Given the description of an element on the screen output the (x, y) to click on. 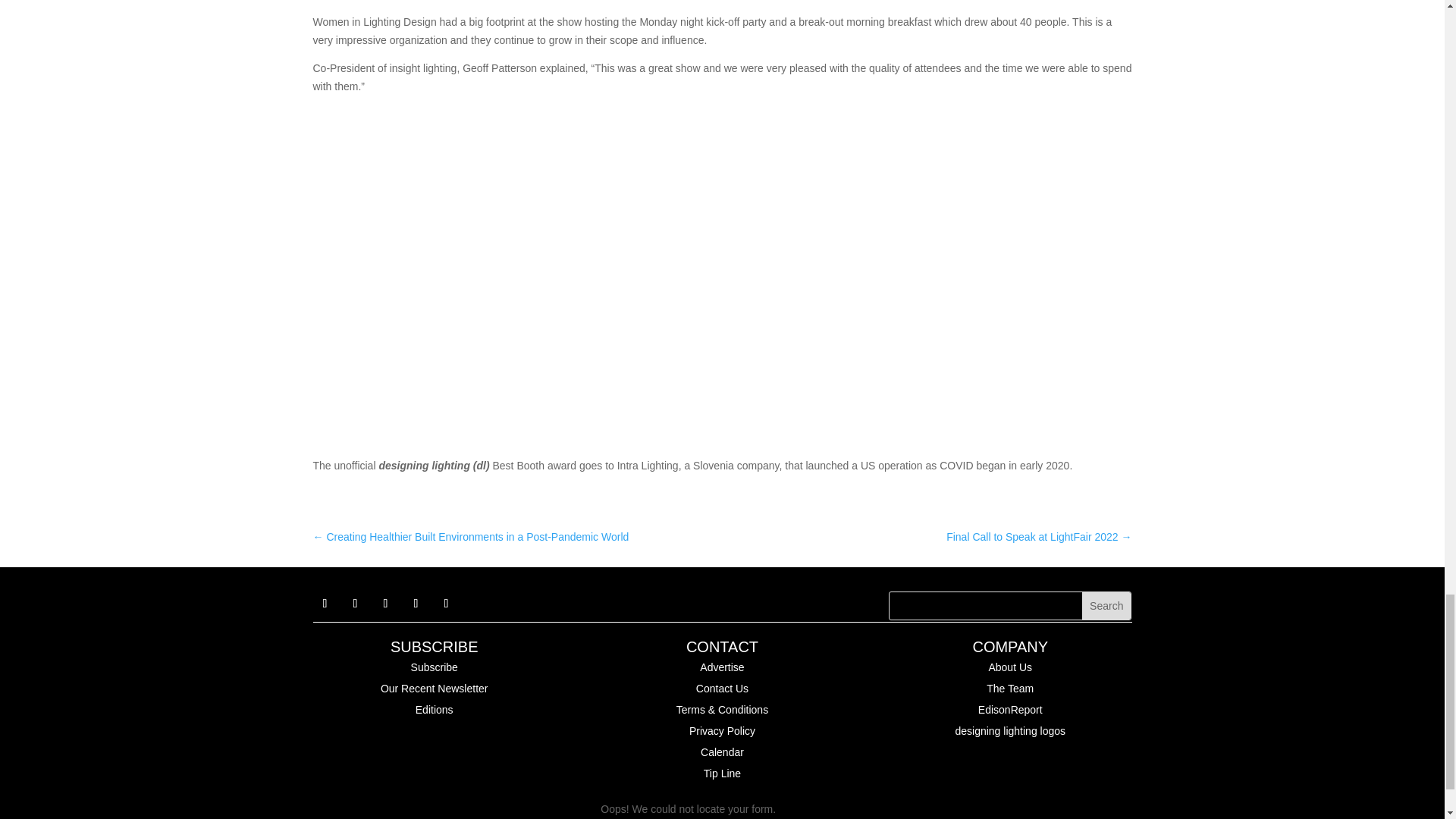
Follow on LinkedIn (384, 603)
Search (1106, 605)
Follow on Pinterest (415, 603)
Search (1106, 605)
Follow on Instagram (445, 603)
Follow on Facebook (324, 603)
Follow on X (354, 603)
